Given the description of an element on the screen output the (x, y) to click on. 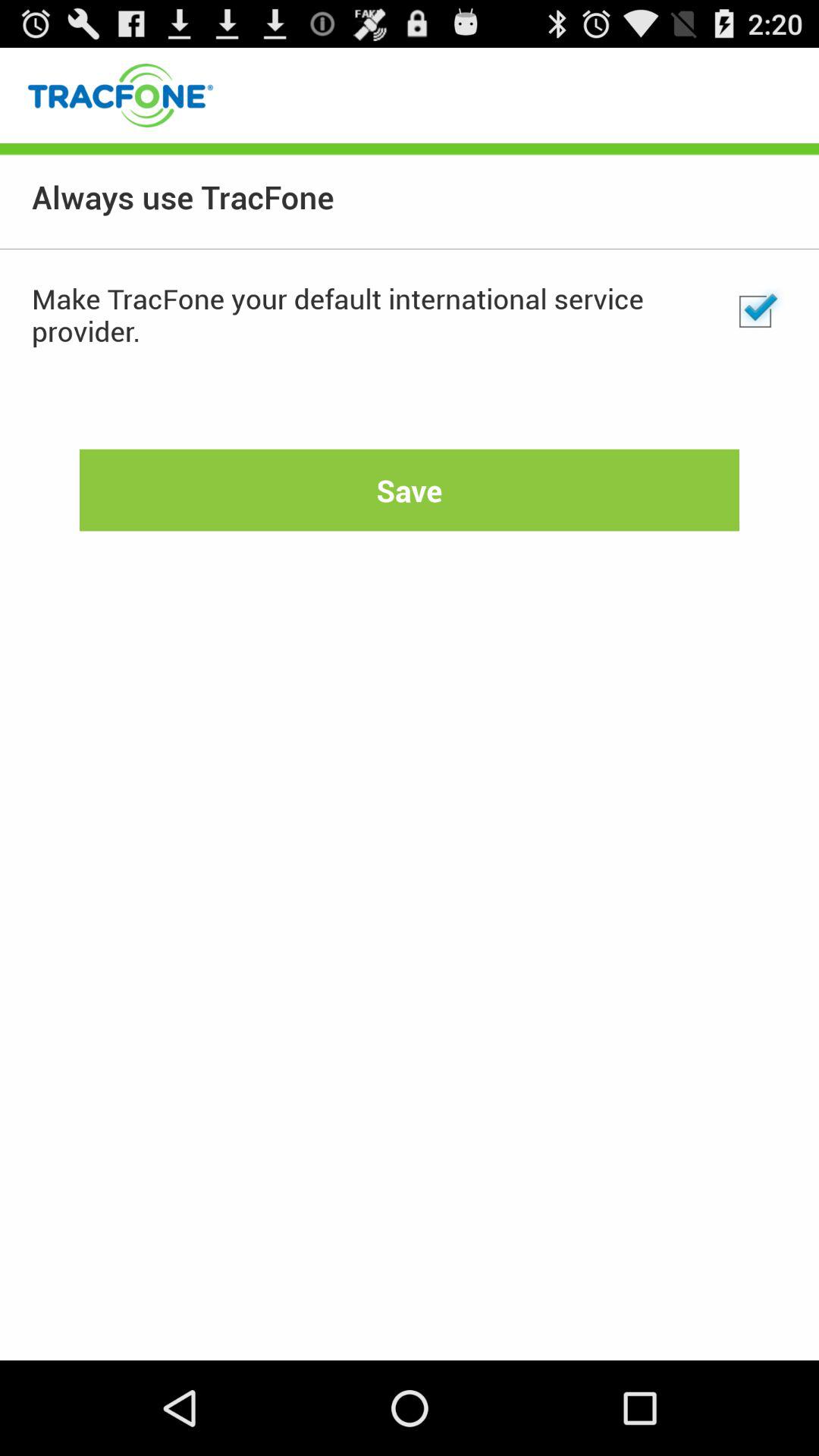
open the item below make tracfone your app (409, 490)
